Given the description of an element on the screen output the (x, y) to click on. 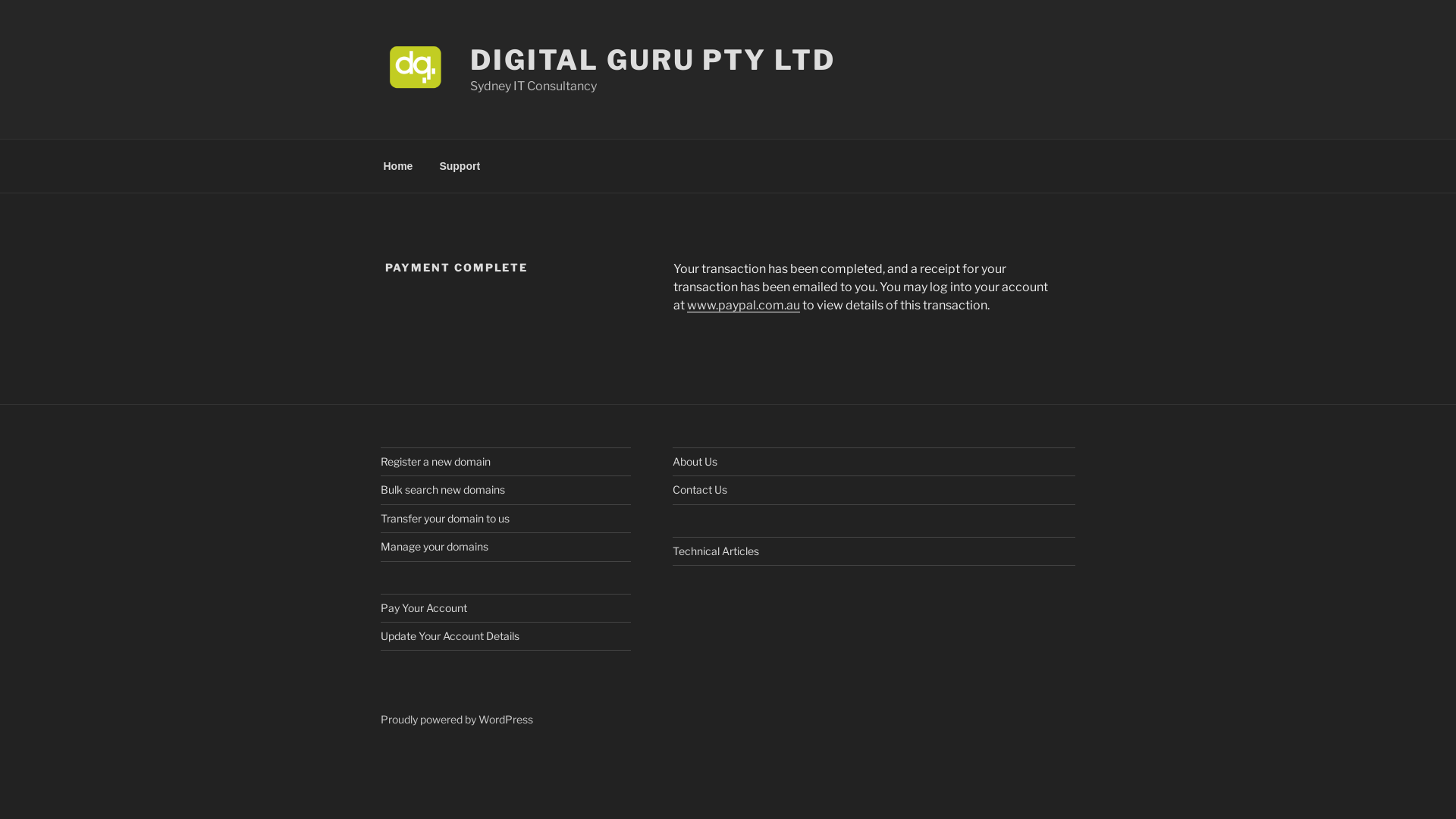
DIGITAL GURU PTY LTD Element type: text (652, 59)
Technical Articles Element type: text (715, 550)
www.paypal.com.au Element type: text (743, 305)
Contact Us Element type: text (699, 489)
Transfer your domain to us Element type: text (444, 517)
Support Element type: text (459, 165)
About Us Element type: text (694, 461)
Update Your Account Details Element type: text (449, 635)
Bulk search new domains Element type: text (442, 489)
Register a new domain Element type: text (435, 461)
Home Element type: text (398, 165)
Pay Your Account Element type: text (423, 607)
Manage your domains Element type: text (434, 545)
Proudly powered by WordPress Element type: text (456, 718)
